Given the description of an element on the screen output the (x, y) to click on. 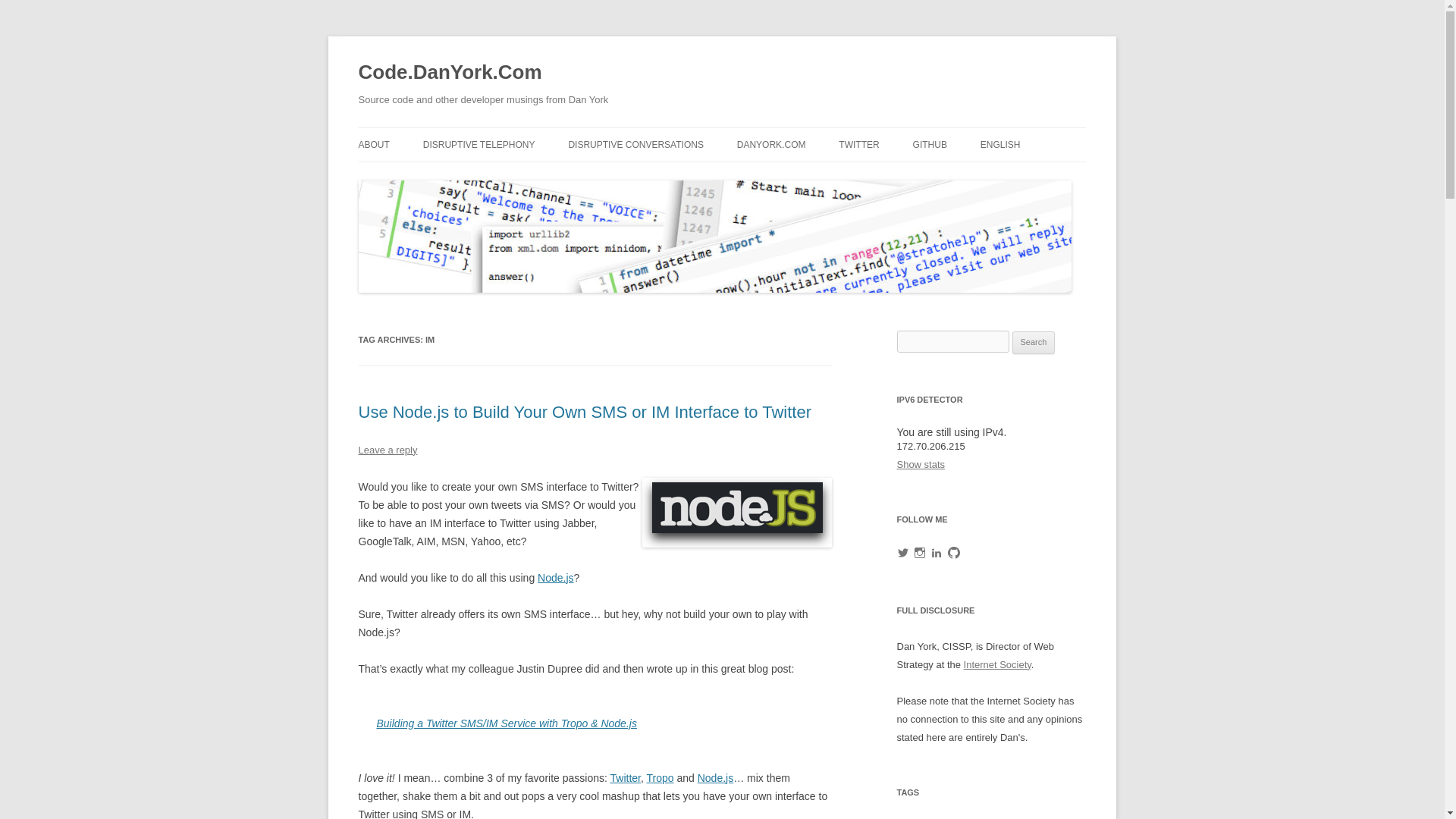
Tropo (660, 777)
ABOUT (373, 144)
Node.js (555, 577)
Search (1033, 342)
DANYORK.COM (771, 144)
Code.DanYork.Com (449, 72)
ENGLISH (999, 144)
GITHUB (929, 144)
Search (1033, 342)
Internet Society (996, 664)
